Given the description of an element on the screen output the (x, y) to click on. 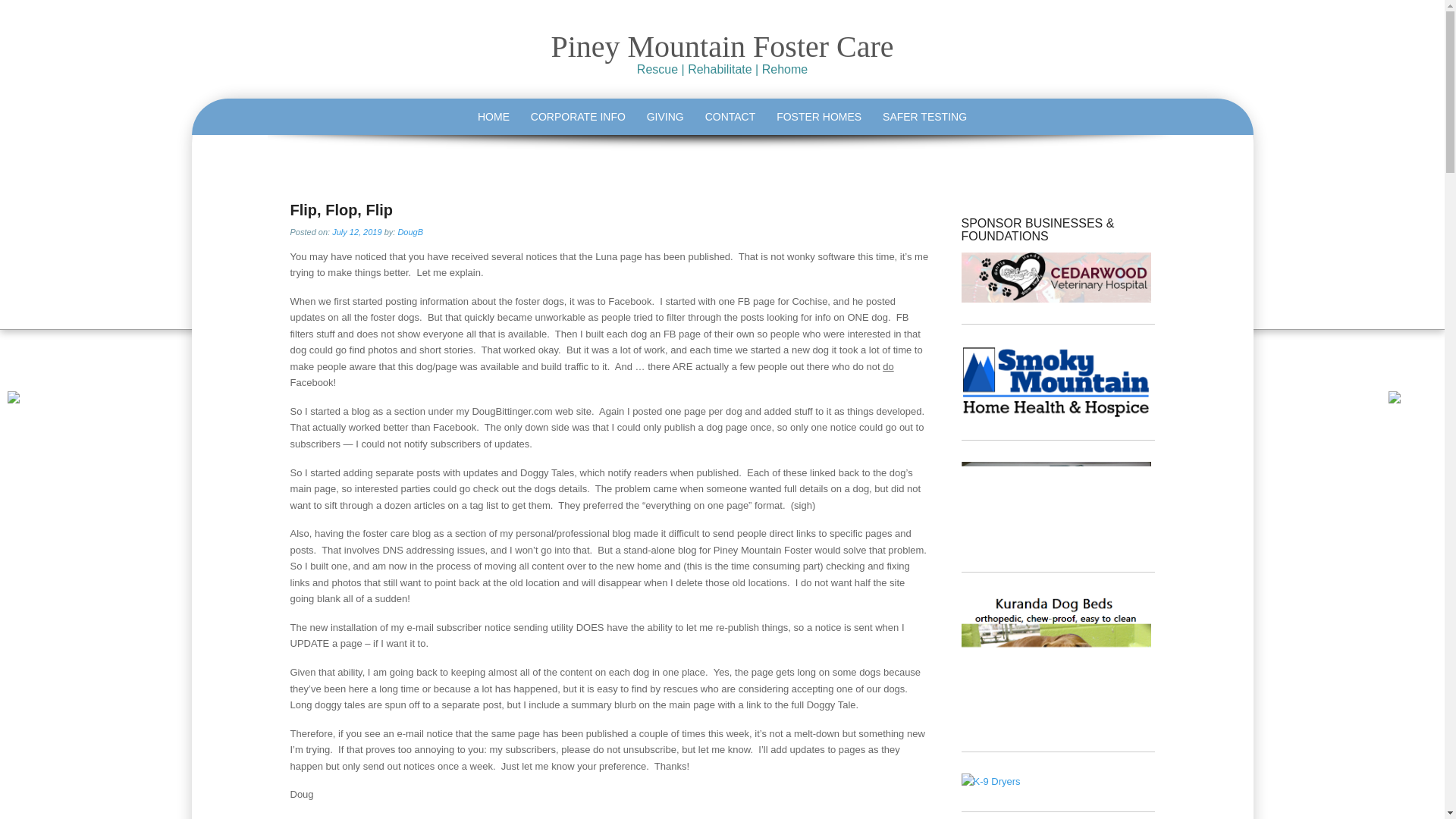
FOSTER HOMES (818, 116)
CORPORATE INFO (577, 116)
HOME (493, 116)
Piney Mountain Foster Care (721, 46)
Piney Mountain Foster Care (721, 46)
GIVING (665, 116)
CONTACT (730, 116)
SAFER TESTING (924, 116)
July 12, 2019 (356, 231)
DougB (410, 231)
